Given the description of an element on the screen output the (x, y) to click on. 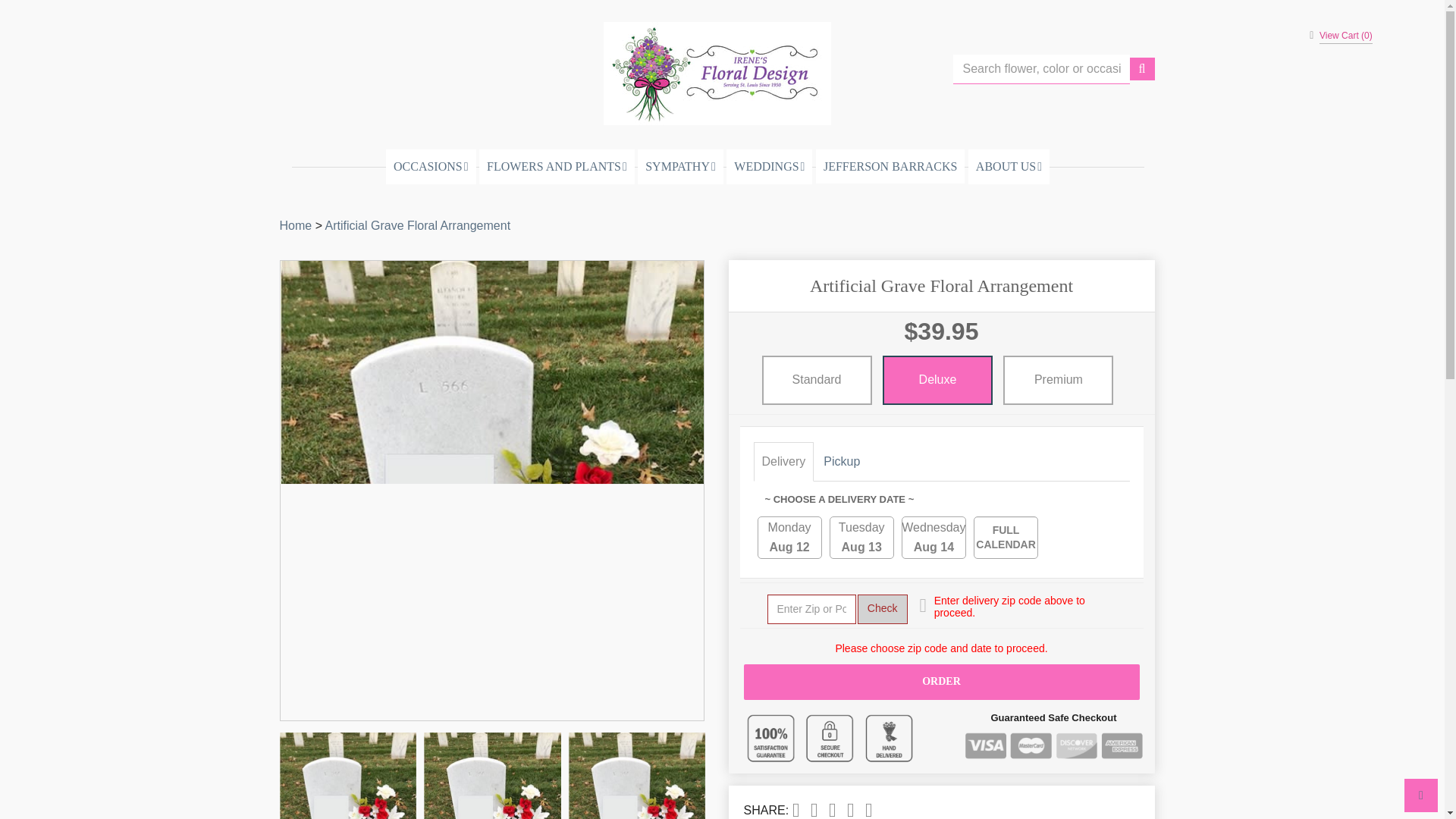
OCCASIONS (430, 166)
Home (295, 225)
Artificial Grave Floral Arrangement Flower Arrangement (637, 775)
Artificial Grave Floral Arrangement Flower Arrangement (347, 775)
Artificial Grave Floral Arrangement Flower Arrangement (491, 775)
Artificial (417, 225)
